Given the description of an element on the screen output the (x, y) to click on. 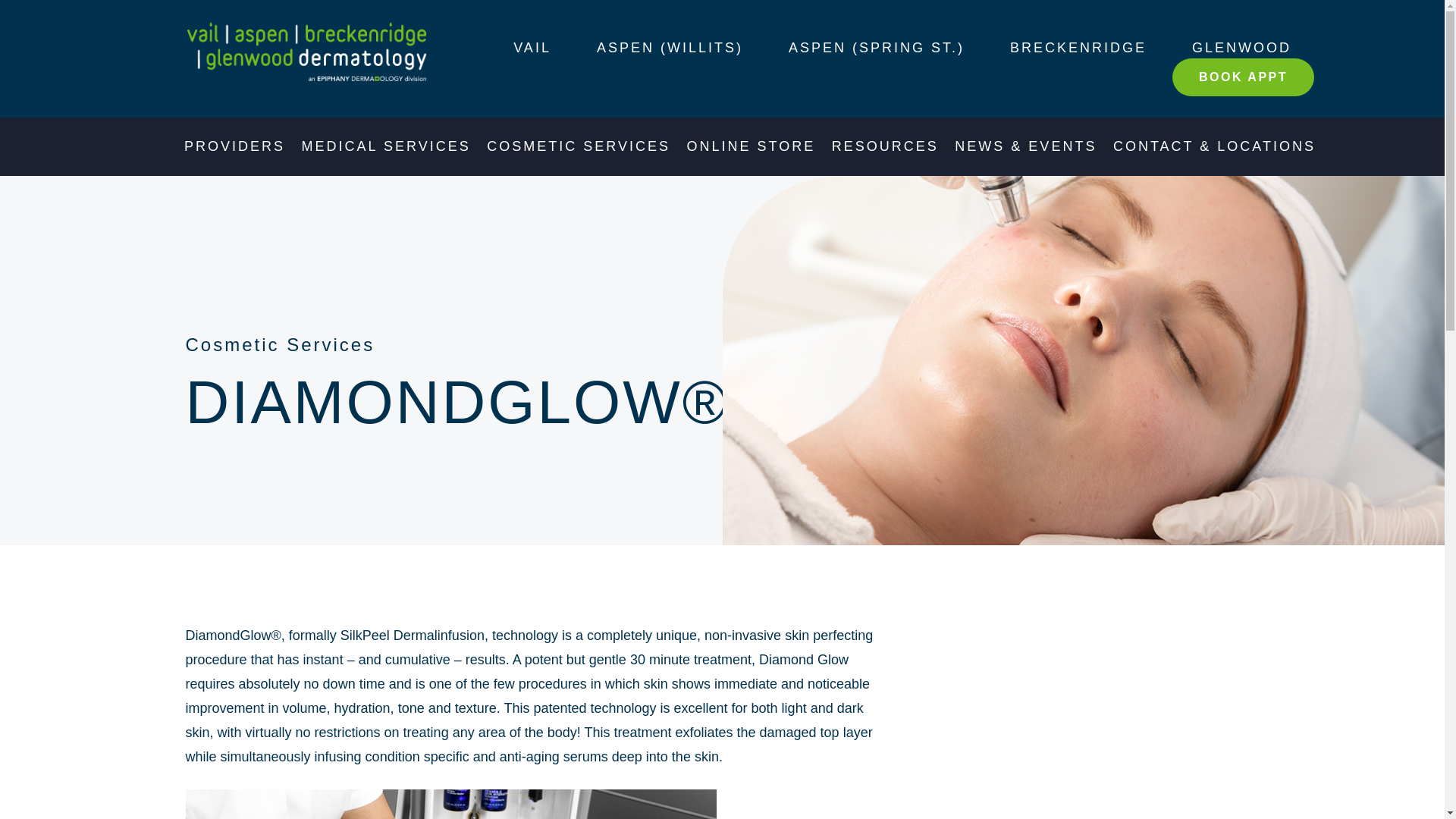
GLENWOOD (1241, 47)
BOOK APPT (1243, 77)
VAIL (532, 47)
BRECKENRIDGE (1078, 47)
